Given the description of an element on the screen output the (x, y) to click on. 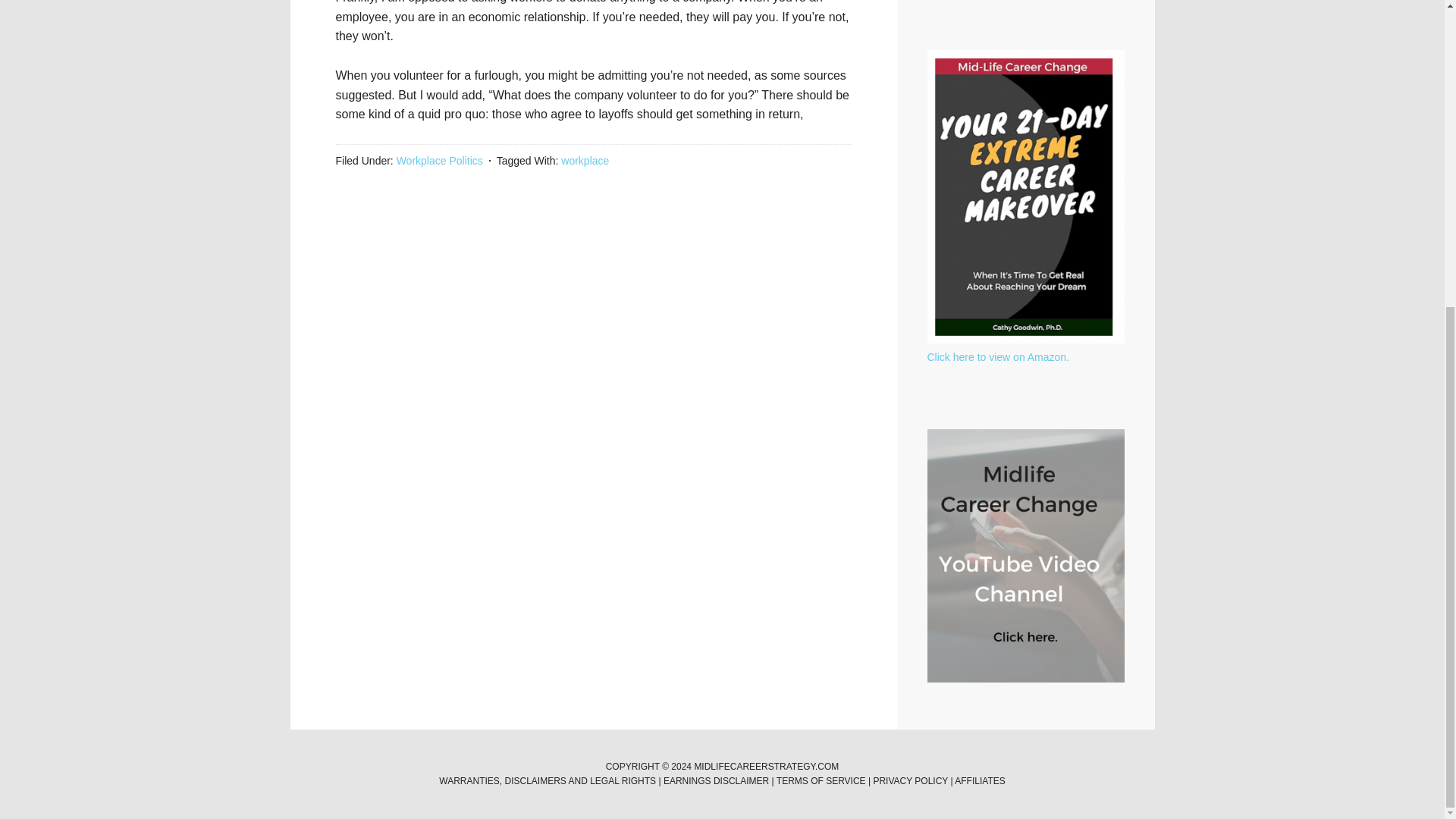
PRIVACY POLICY (911, 780)
WARRANTIES, DISCLAIMERS AND LEGAL RIGHTS (547, 780)
TERMS OF SERVICE (821, 780)
EARNINGS DISCLAIMER (715, 780)
AFFILIATES (979, 780)
Workplace Politics (439, 160)
Click here to view on Amazon. (997, 357)
workplace (584, 160)
MIDLIFECAREERSTRATEGY.COM (766, 766)
